Given the description of an element on the screen output the (x, y) to click on. 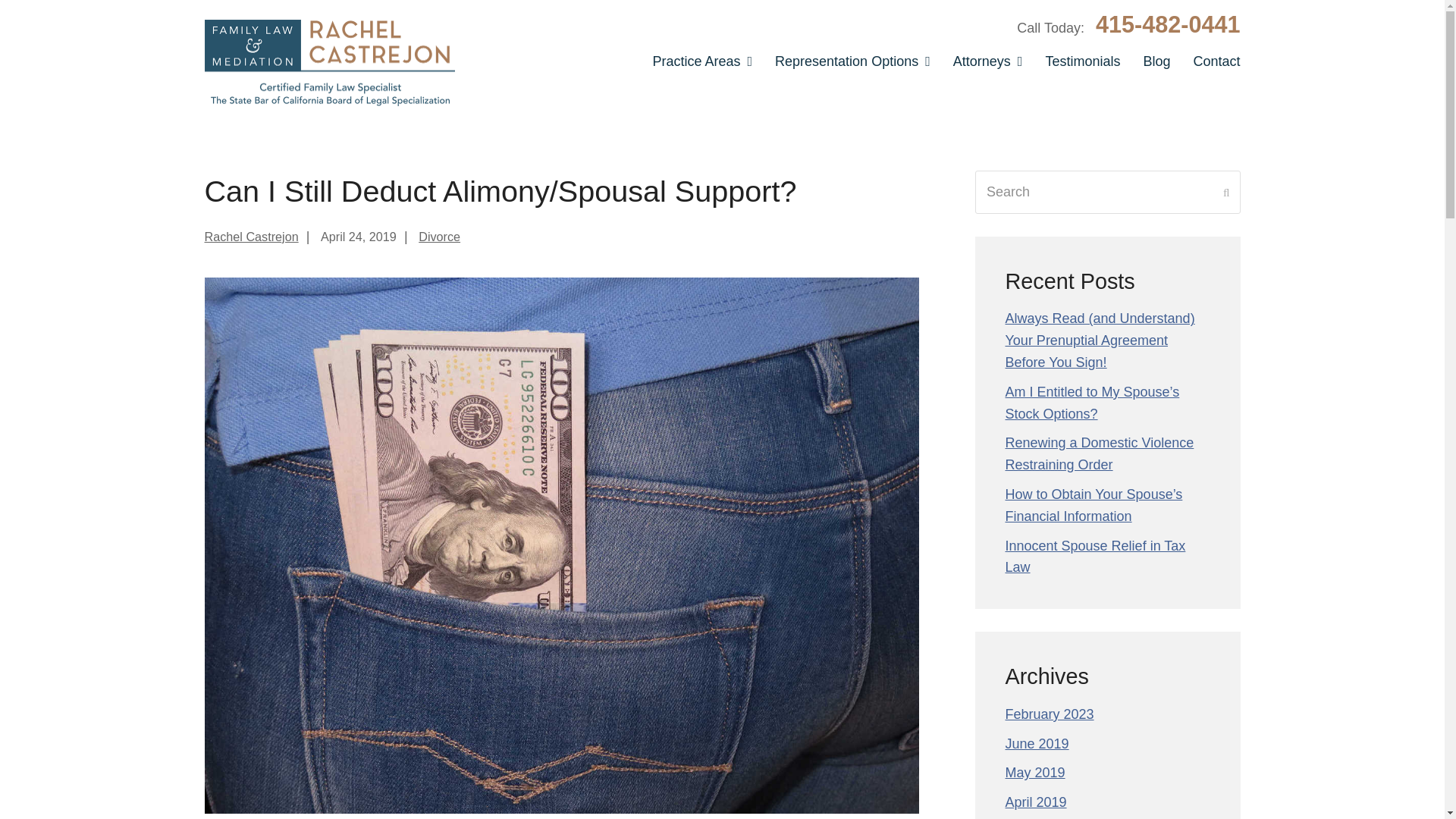
415-482-0441 (1168, 23)
Posts by Rachel Castrejon (251, 236)
Practice Areas (701, 57)
Attorneys (987, 57)
Blog (1155, 57)
Rachel Castrejon (251, 236)
Contact (1210, 57)
Representation Options (852, 57)
Testimonials (1082, 57)
